Given the description of an element on the screen output the (x, y) to click on. 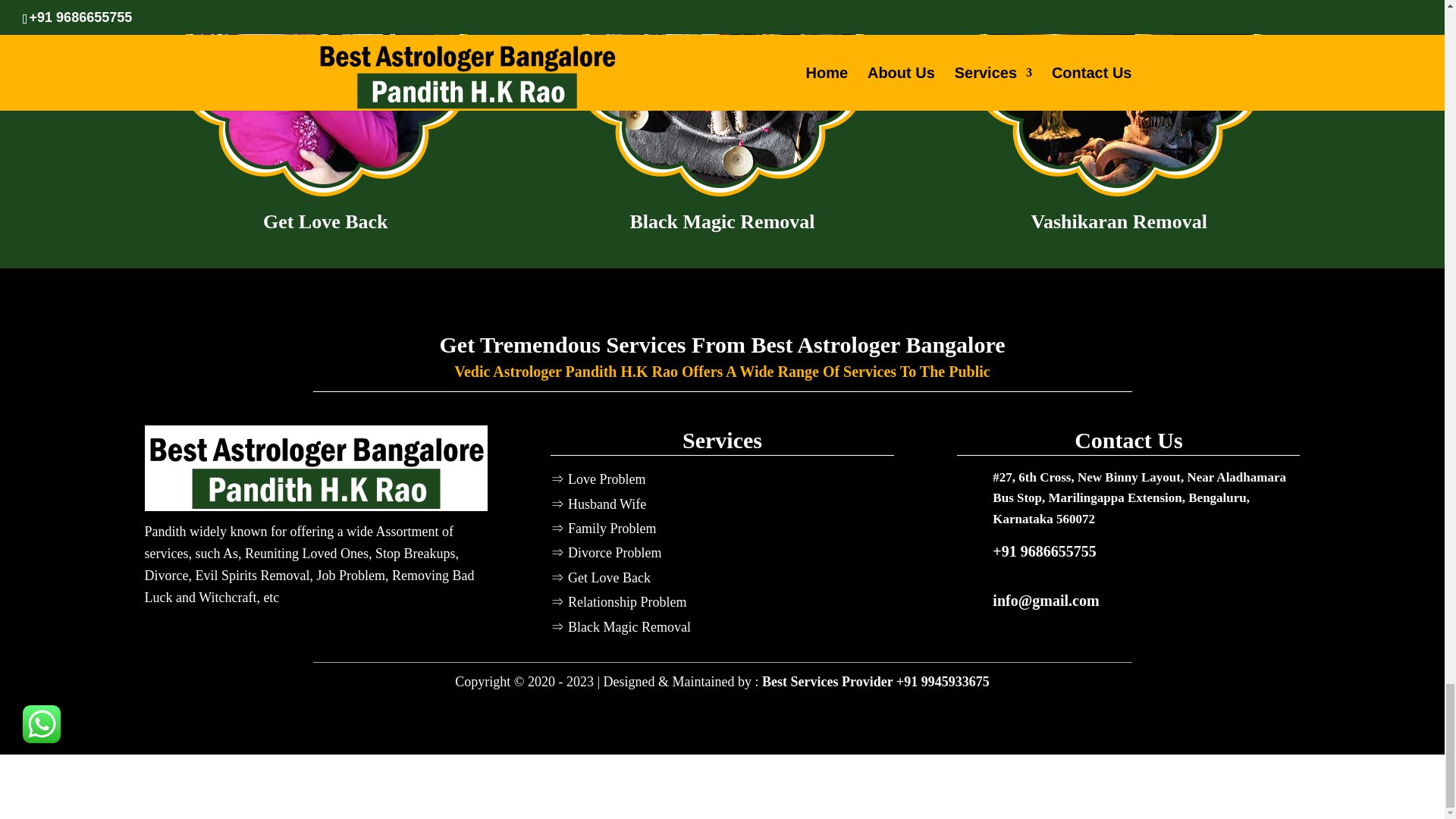
Get Love Back (325, 101)
Logo (315, 468)
Best Services Provider (828, 681)
Black Magic Removal (721, 101)
Vashikaran Removal (1119, 101)
